Given the description of an element on the screen output the (x, y) to click on. 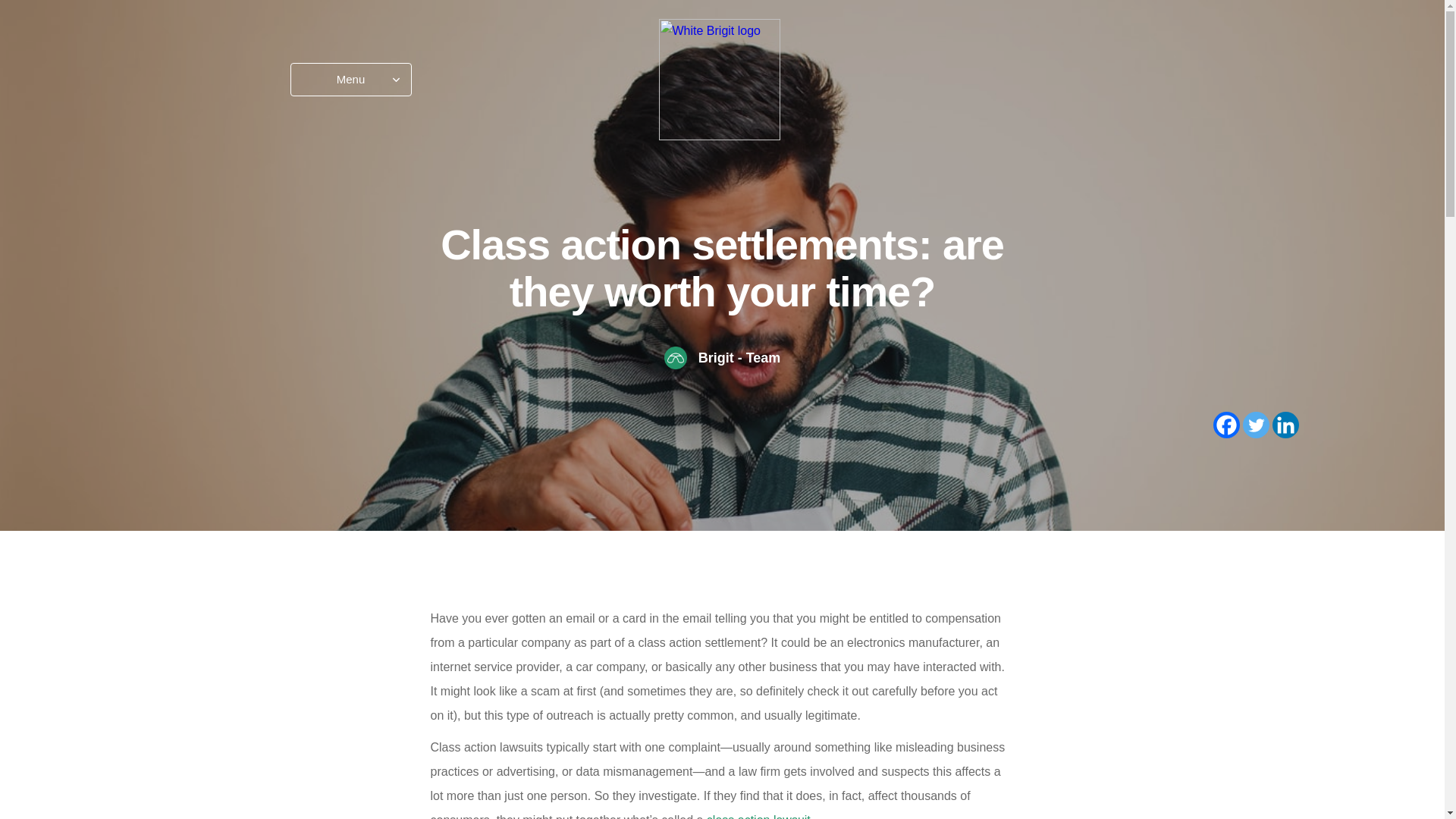
Menu (349, 79)
Twitter (1254, 424)
class action lawsuit (758, 816)
Facebook (1226, 424)
Linkedin (1285, 424)
